Given the description of an element on the screen output the (x, y) to click on. 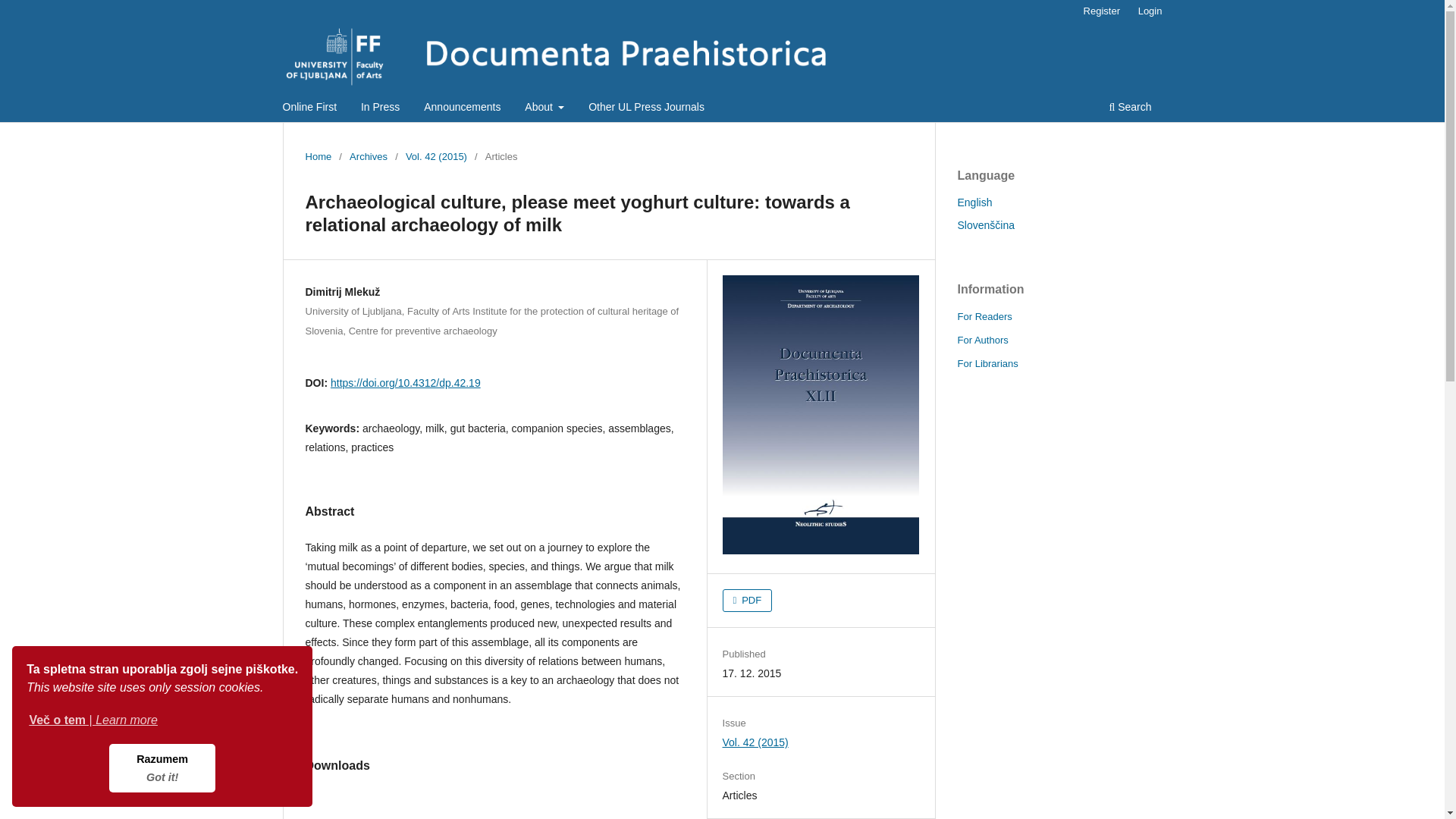
Home (317, 156)
Other UL Press Journals (646, 108)
Announcements (462, 108)
Login (1150, 11)
Search (1129, 108)
PDF (747, 599)
Register (1100, 11)
About (544, 108)
Archives (368, 156)
Online First (310, 108)
In Press (162, 767)
